Given the description of an element on the screen output the (x, y) to click on. 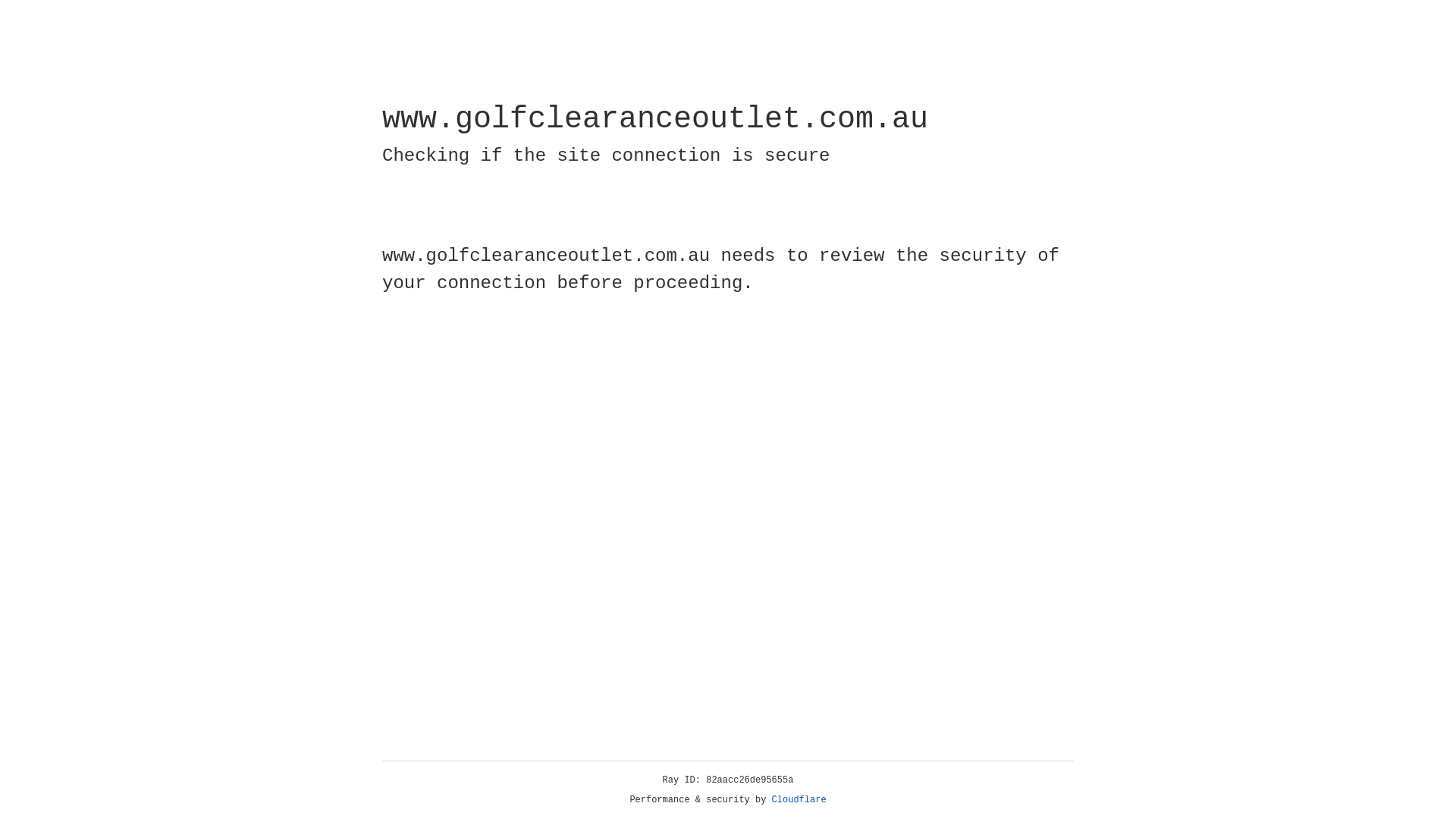
Cloudflare Element type: text (798, 799)
